Given the description of an element on the screen output the (x, y) to click on. 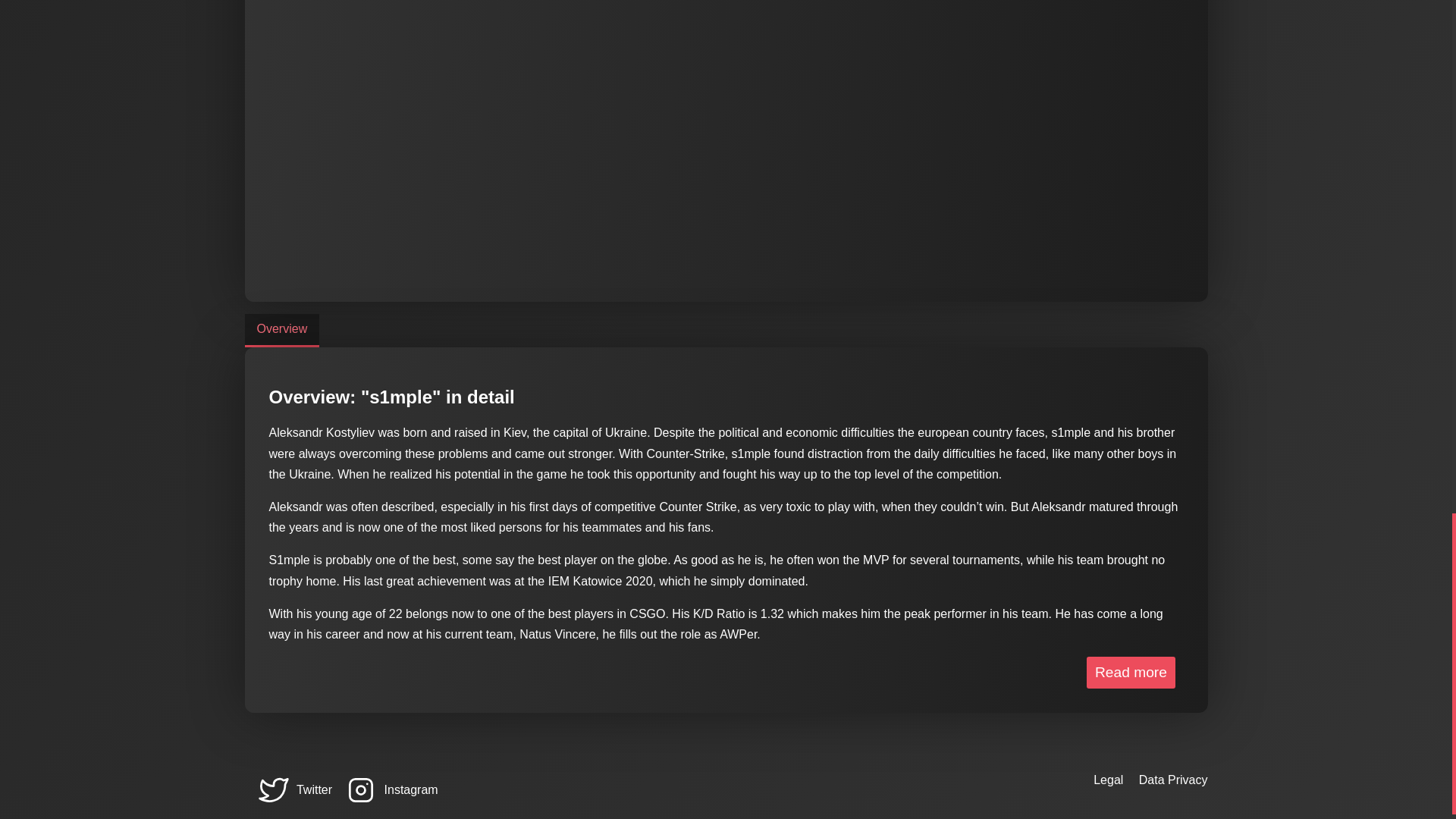
Instagram (390, 788)
Read more (1130, 672)
Twitter (293, 788)
Overview (281, 328)
Legal (1107, 779)
Data Privacy (1173, 779)
